Given the description of an element on the screen output the (x, y) to click on. 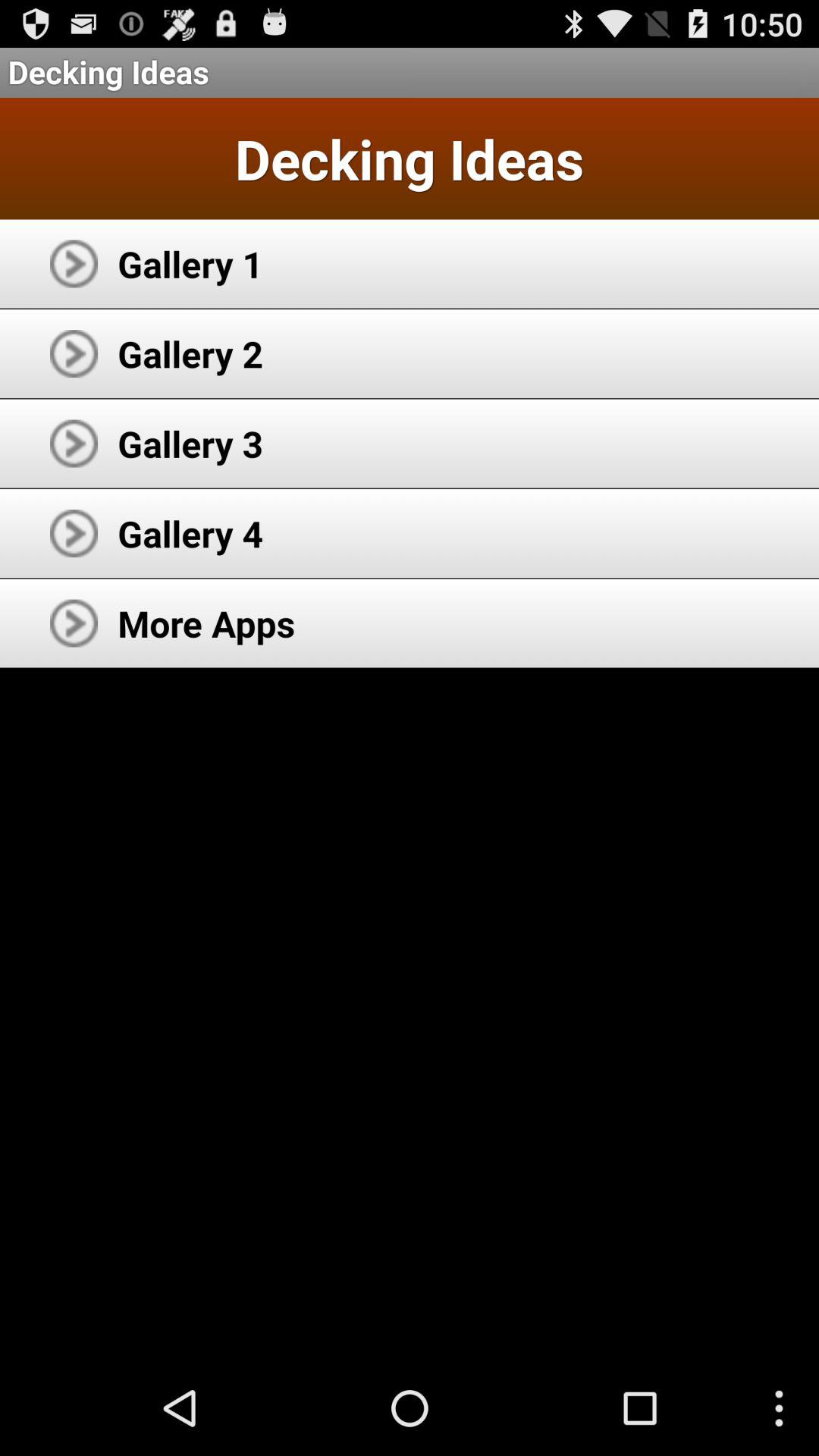
turn on the gallery 2 icon (190, 353)
